Given the description of an element on the screen output the (x, y) to click on. 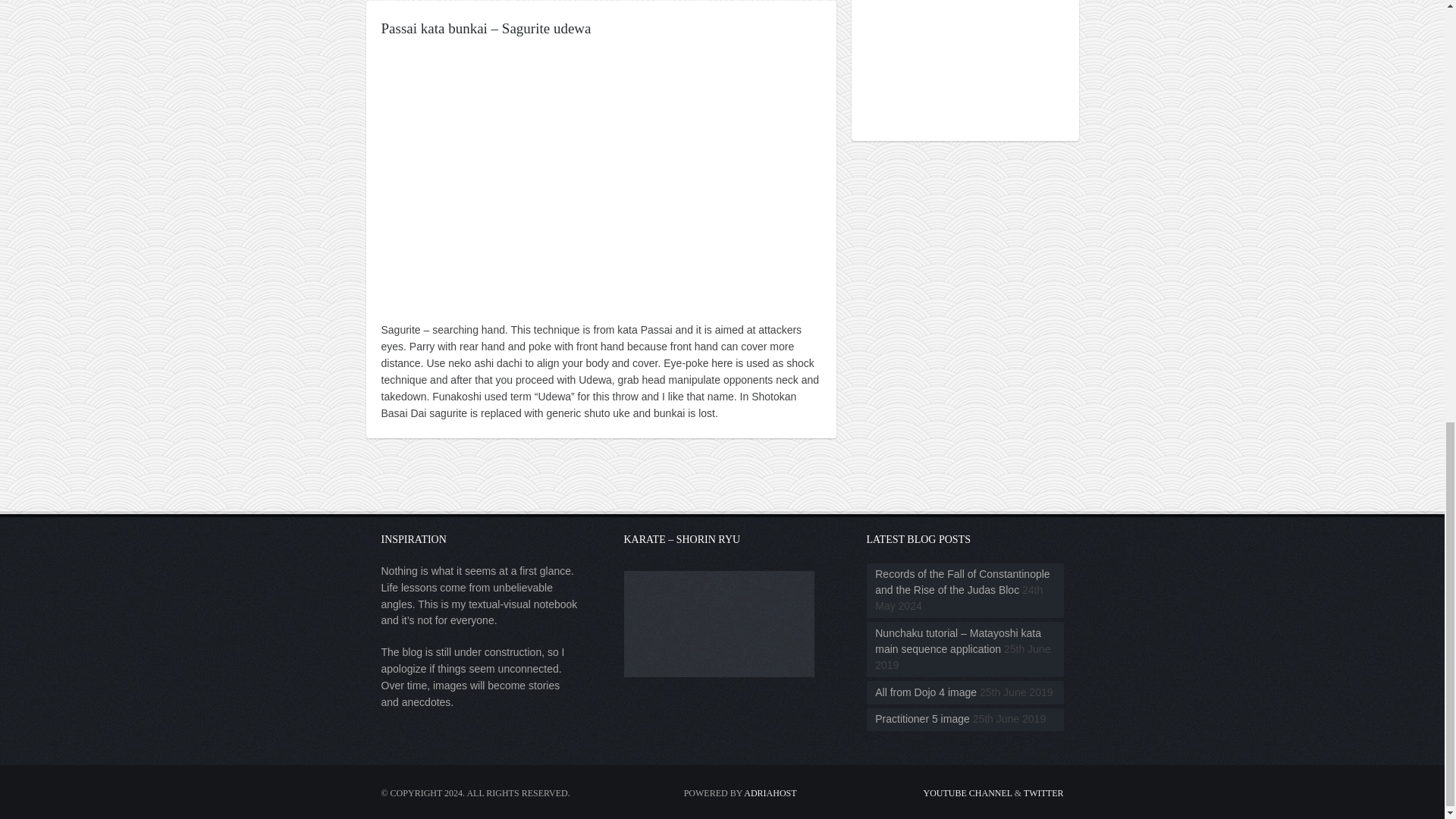
Shorin Passai kata bunkai - Sagurite udewa (600, 178)
